Given the description of an element on the screen output the (x, y) to click on. 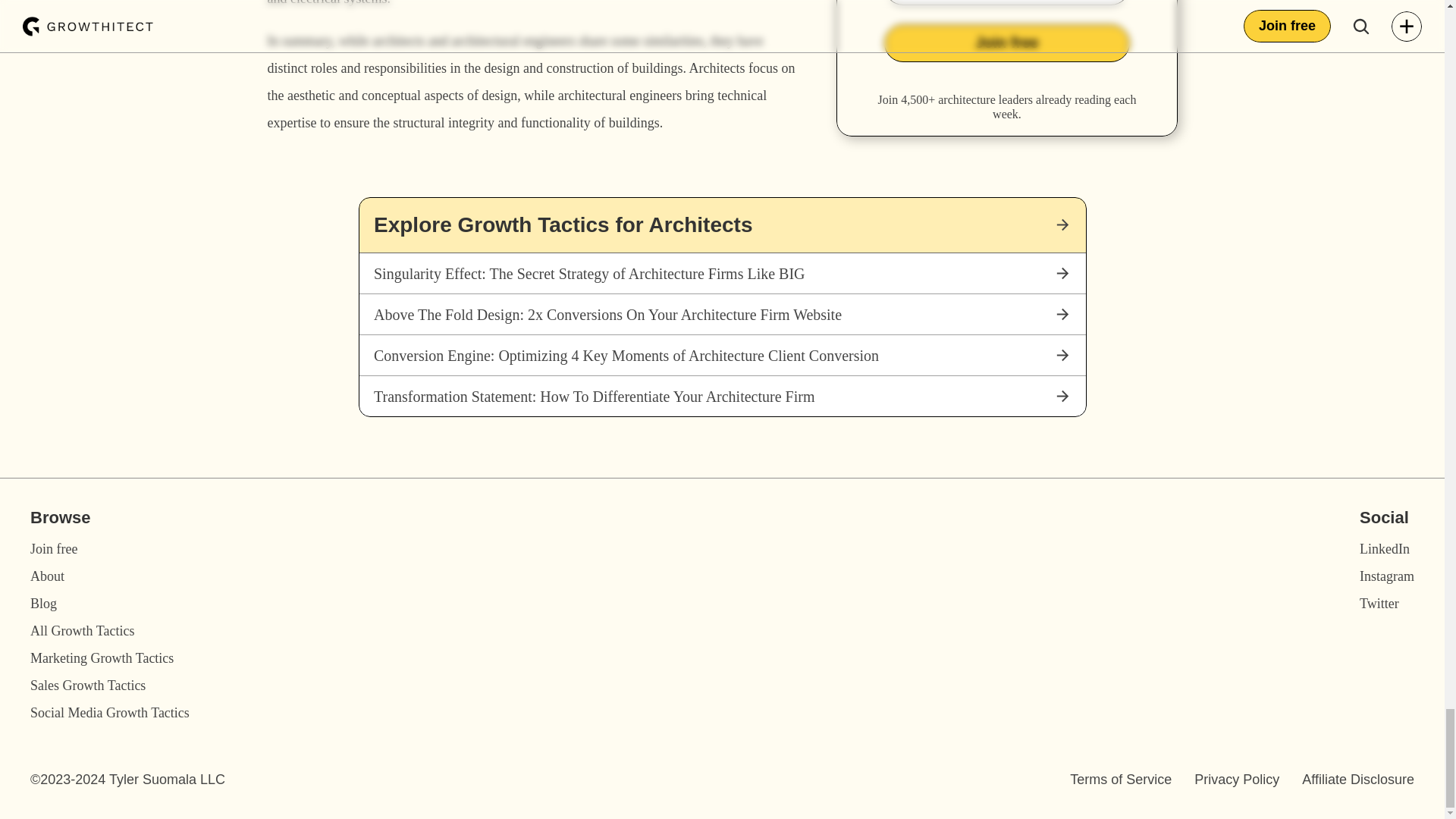
Privacy Policy (1236, 779)
Affiliate Disclosure (1357, 779)
About (47, 575)
LinkedIn (1384, 548)
Twitter (1379, 603)
Terms of Service (1121, 779)
Marketing Growth Tactics (101, 657)
Explore Growth Tactics for Architects (722, 225)
Sales Growth Tactics (87, 685)
Blog (43, 603)
Social Media Growth Tactics (109, 712)
